Given the description of an element on the screen output the (x, y) to click on. 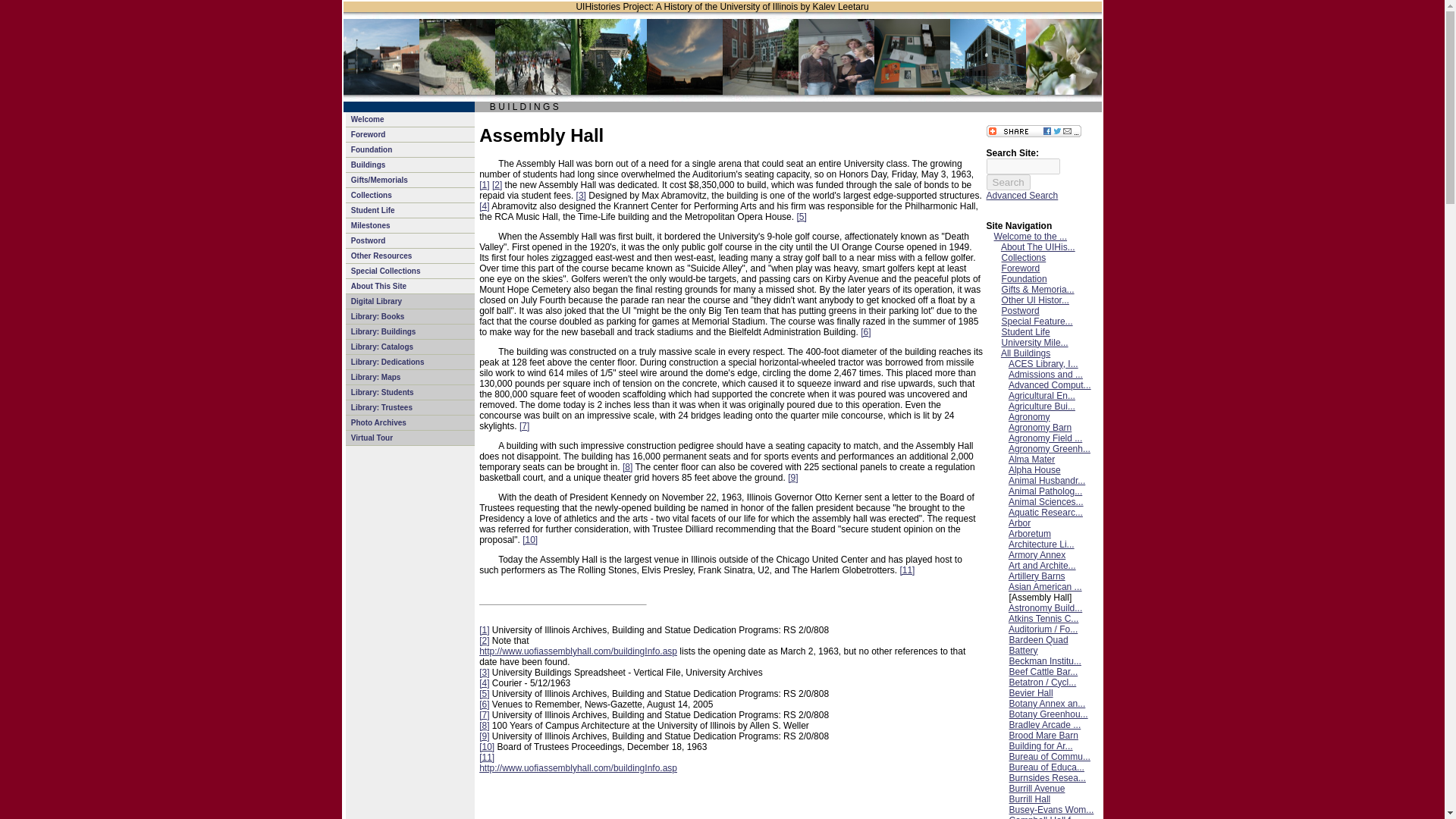
Postword (410, 240)
About This Site (410, 286)
Buildings (410, 165)
Collections (410, 195)
Search (1008, 182)
Student Life (410, 210)
Library: Maps (410, 377)
Library: Students (410, 392)
Library: Catalogs (410, 346)
Milestones (410, 225)
